Given the description of an element on the screen output the (x, y) to click on. 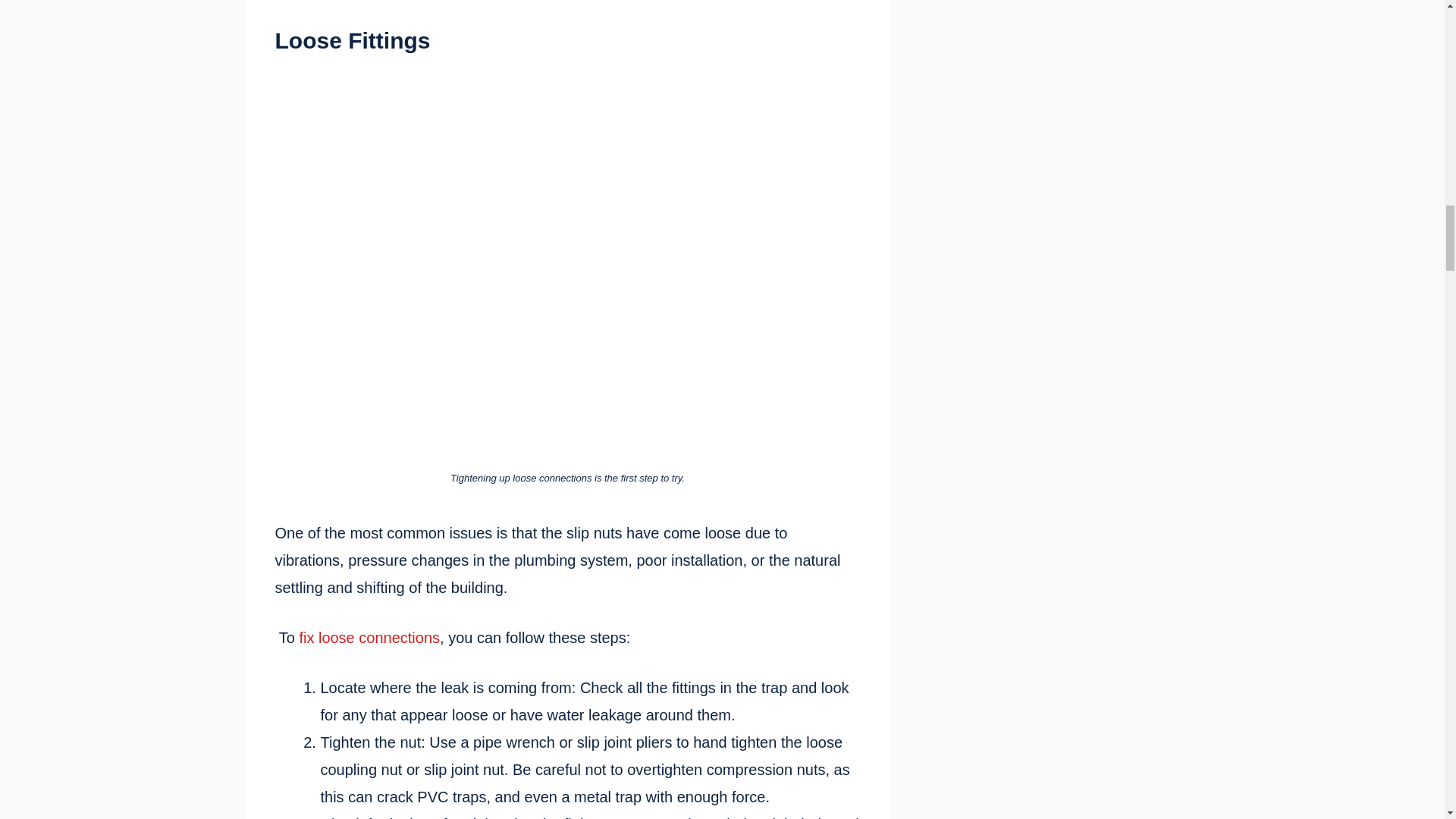
fix loose connections (368, 637)
